Given the description of an element on the screen output the (x, y) to click on. 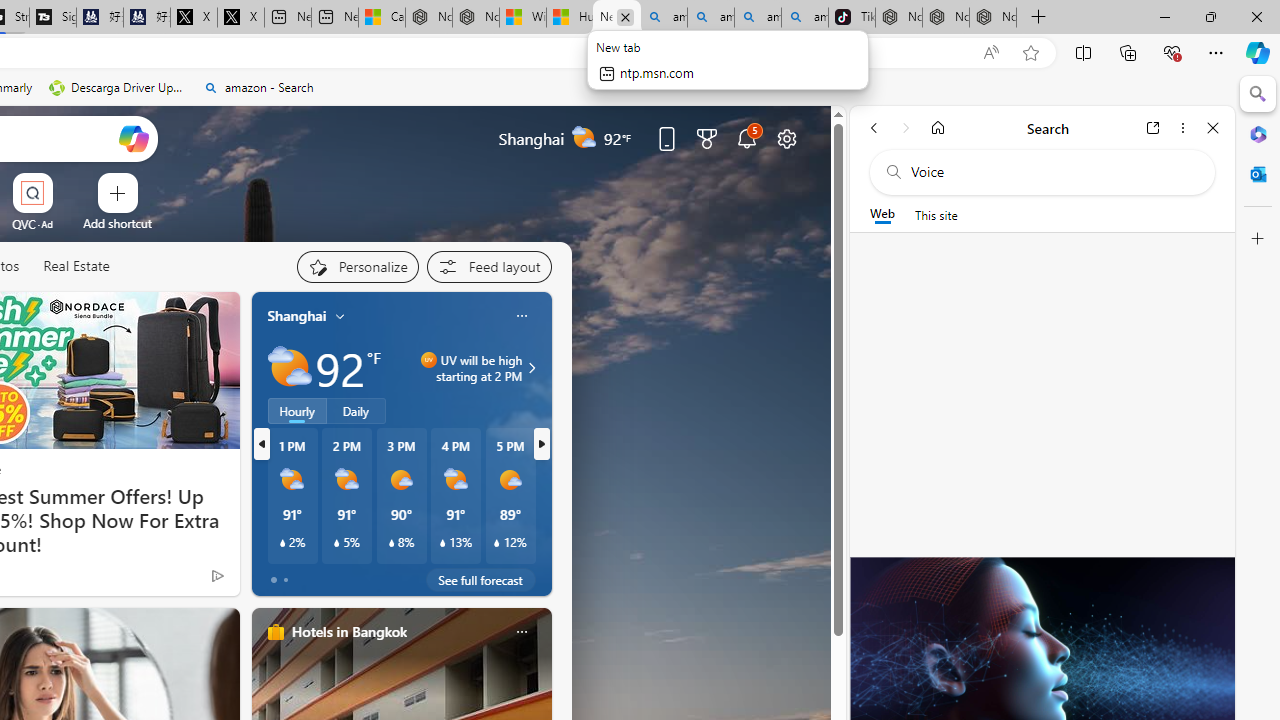
Search the web (1051, 172)
tab-0 (273, 579)
Descarga Driver Updater (118, 88)
Open link in new tab (1153, 127)
Shanghai (296, 315)
Customize (1258, 239)
